Given the description of an element on the screen output the (x, y) to click on. 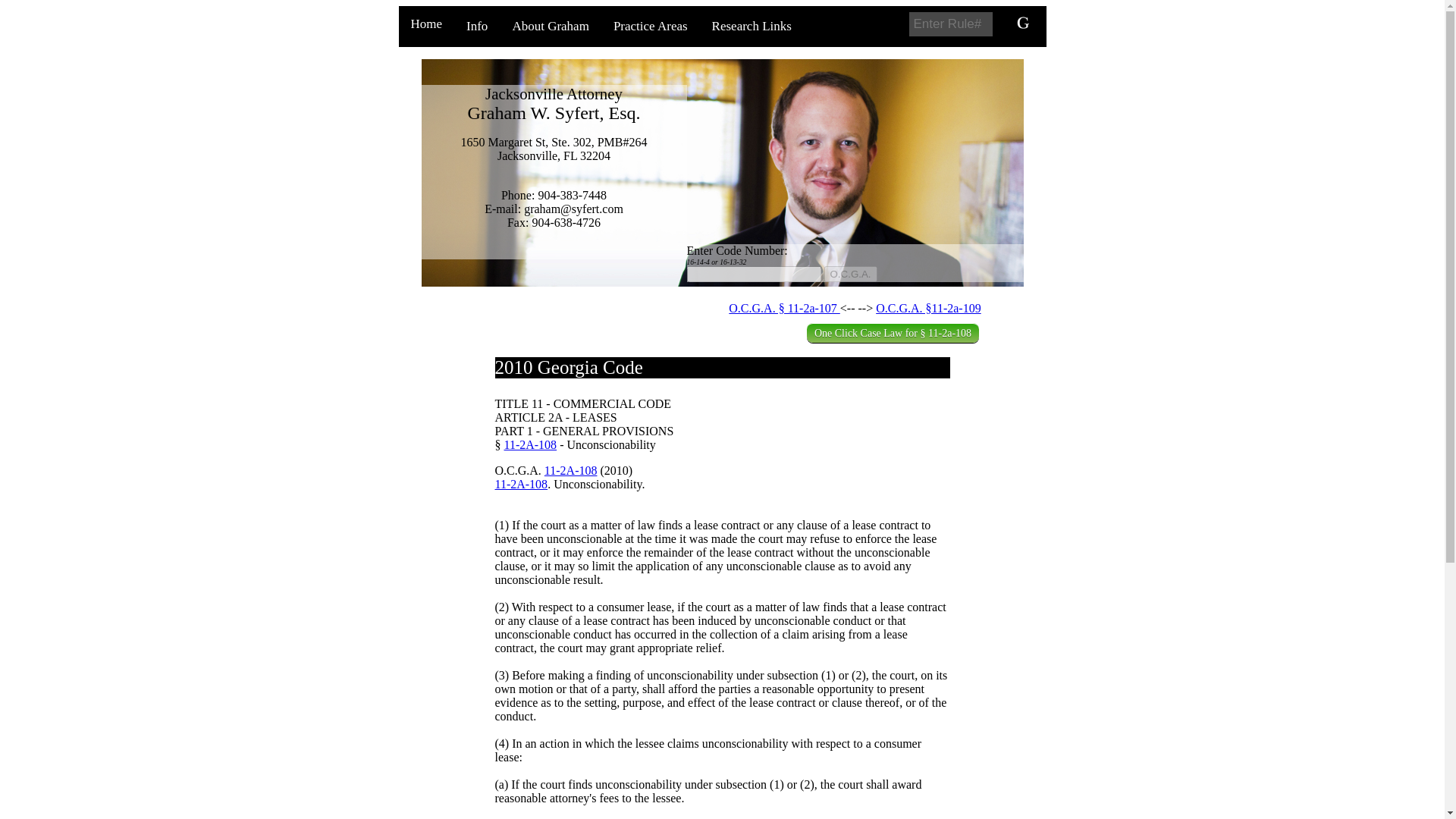
11-2A-108 (521, 483)
About Graham (550, 25)
O.C.G.A. (850, 273)
11-2A-108 (570, 470)
Home (426, 23)
O.C.G.A. (850, 273)
Info (476, 25)
Research Links (751, 25)
Practice Areas (650, 25)
11-2A-108 (529, 444)
